Given the description of an element on the screen output the (x, y) to click on. 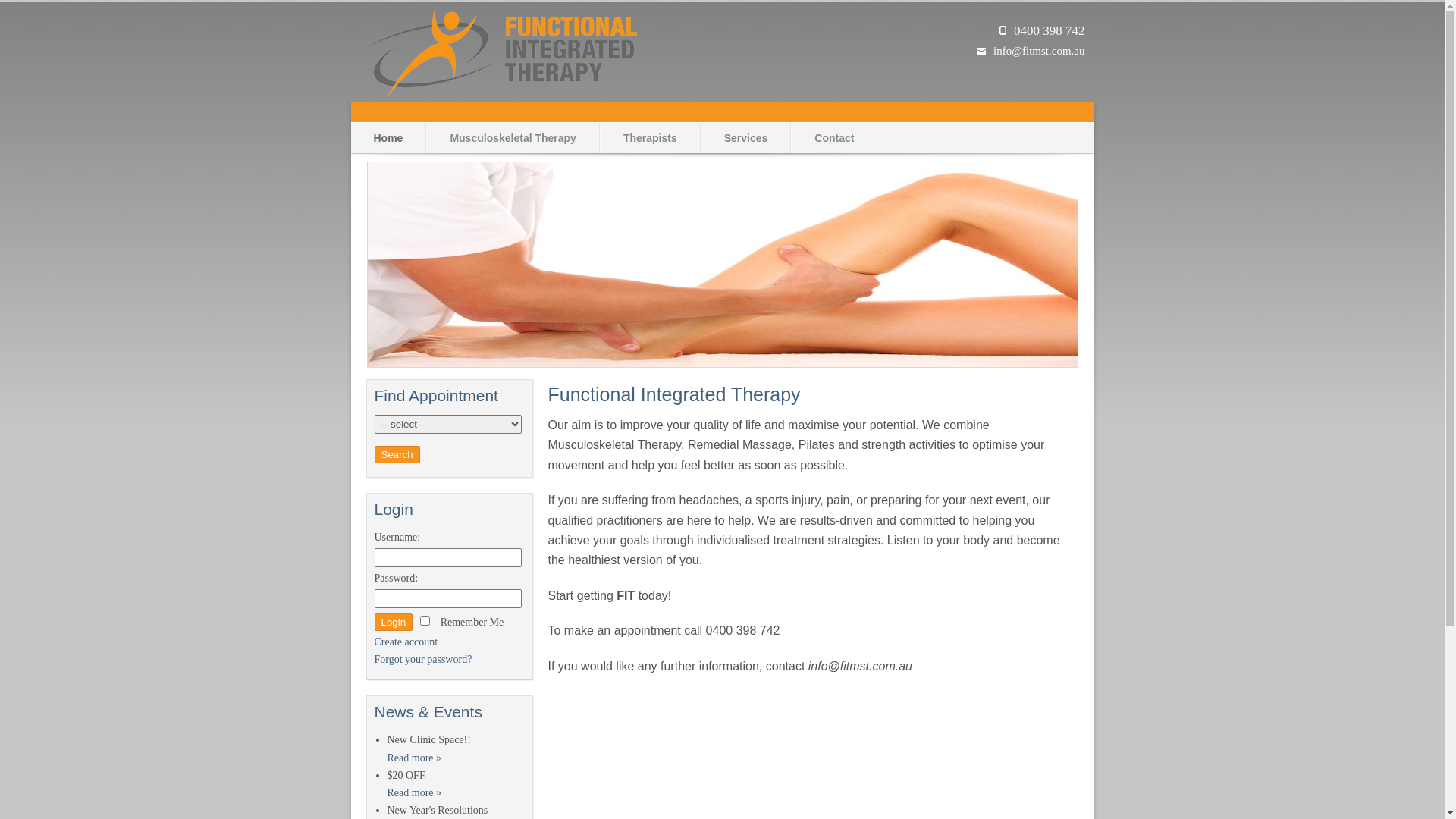
Search Element type: text (397, 454)
Musculoskeletal Therapy Element type: text (512, 138)
Forgot your password? Element type: text (423, 659)
Contact Element type: text (833, 138)
Home Element type: text (387, 138)
Therapists Element type: text (649, 138)
Create account Element type: text (406, 641)
Login Element type: text (393, 621)
Services Element type: text (745, 138)
